Given the description of an element on the screen output the (x, y) to click on. 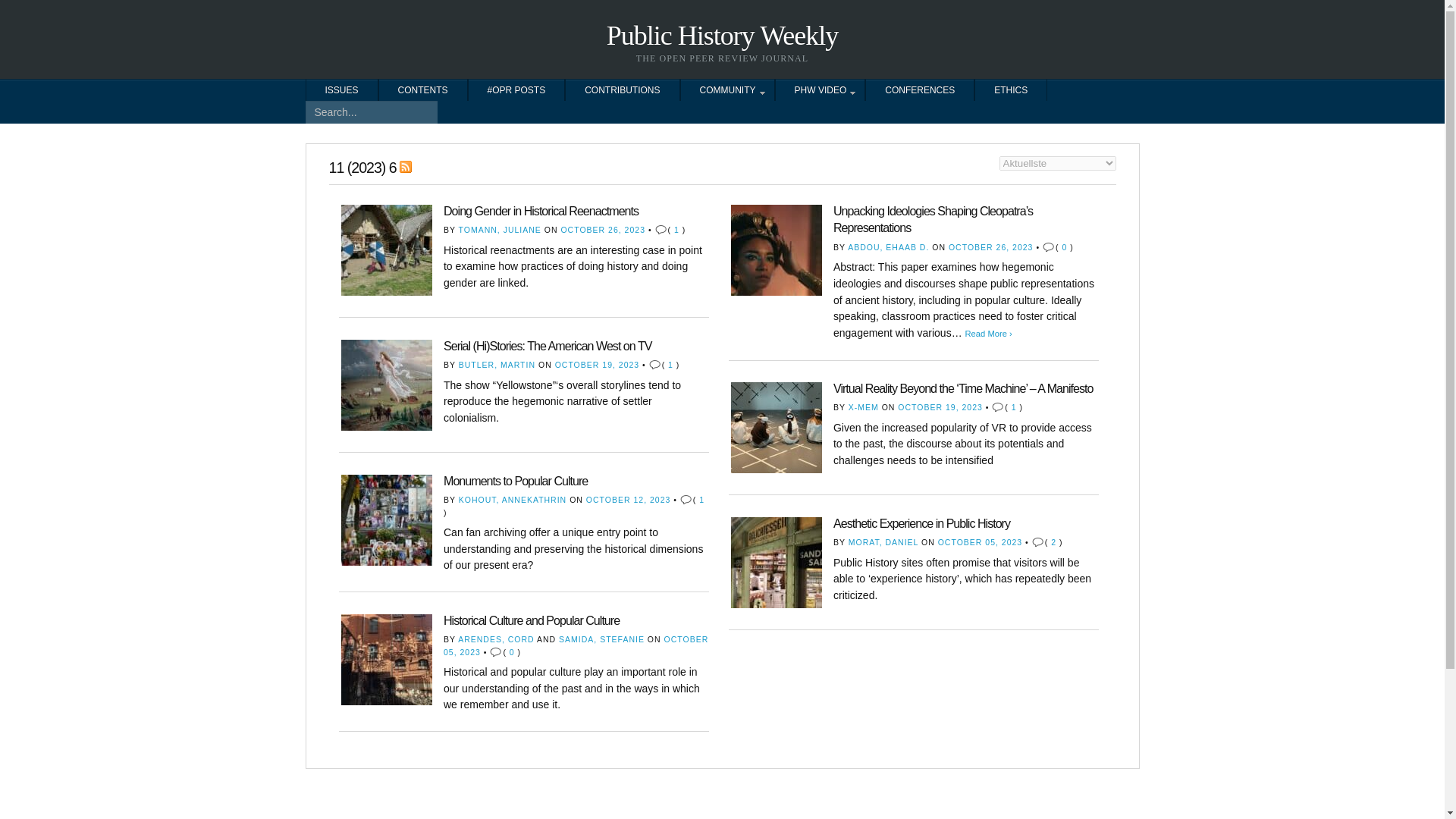
CONTRIBUTIONS (622, 89)
ABDOU, EHAAB D. (887, 246)
BUTLER, MARTIN (496, 364)
8:00 am (940, 406)
Doing Gender in Historical Reenactments (541, 210)
OCTOBER 26, 2023 (991, 246)
TOMANN, JULIANE (499, 229)
Home (722, 34)
8:00 am (991, 246)
COMMUNITY (727, 89)
